Given the description of an element on the screen output the (x, y) to click on. 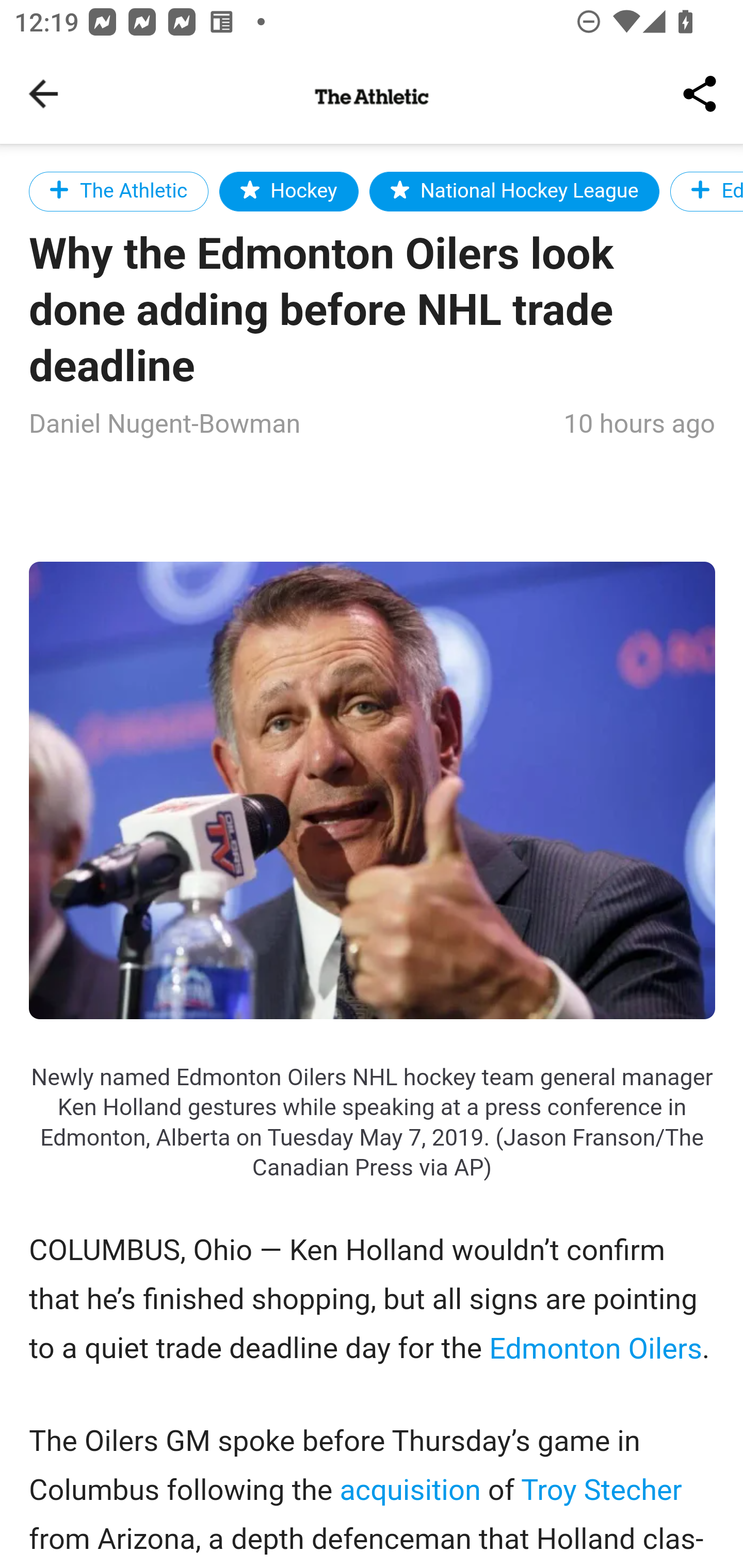
The Athletic (118, 191)
Hockey (288, 191)
National Hockey League (514, 191)
Edmonton Oilers (594, 1348)
acquisition (410, 1490)
Troy Stecher (601, 1490)
